Given the description of an element on the screen output the (x, y) to click on. 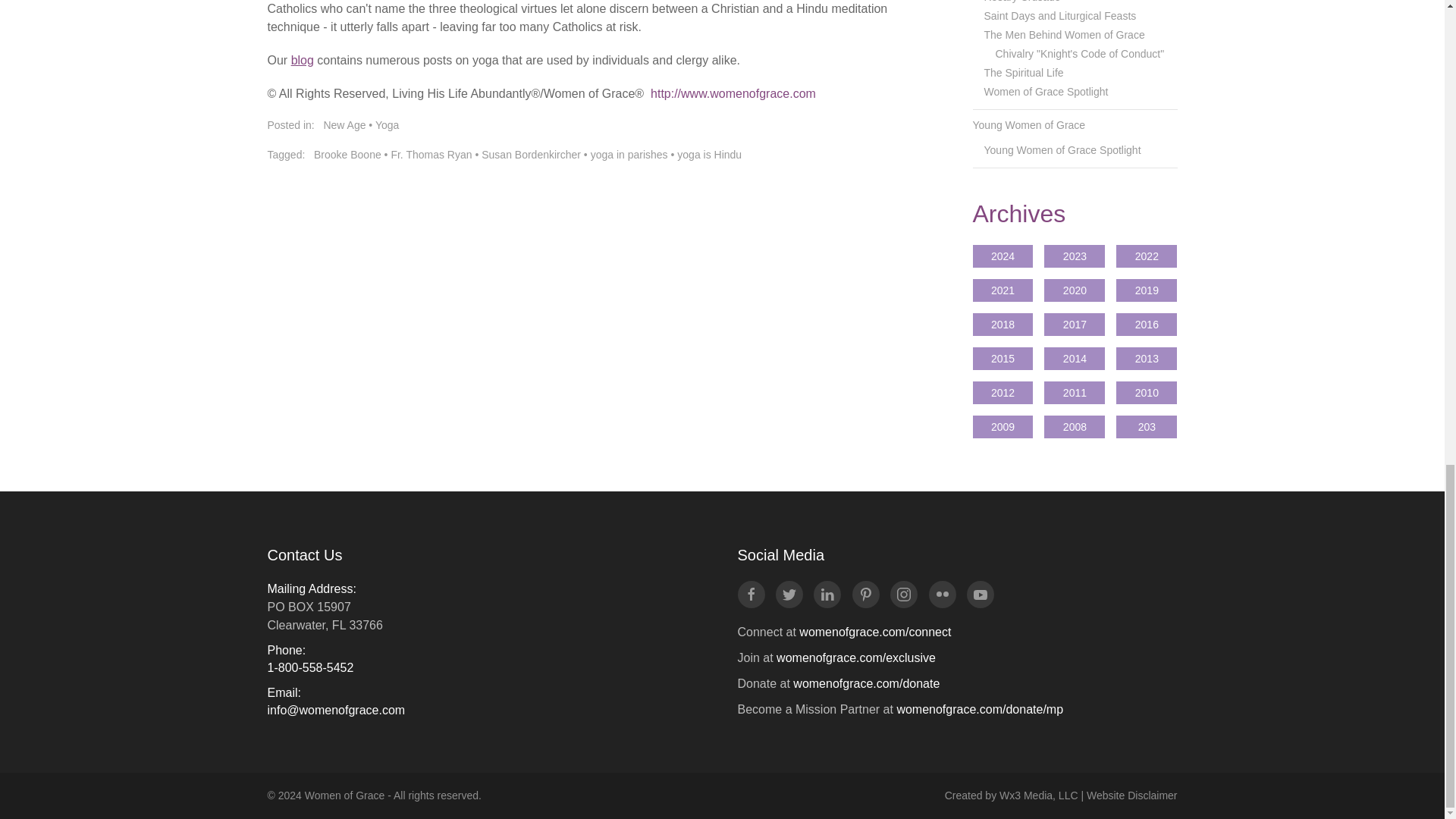
blog (302, 60)
Susan Bordenkircher (530, 154)
yoga is Hindu (709, 154)
WOG New Age blog index (302, 60)
New Age (344, 124)
Yoga (386, 124)
Fr. Thomas Ryan (430, 154)
yoga in parishes (629, 154)
Brooke Boone (347, 154)
